Given the description of an element on the screen output the (x, y) to click on. 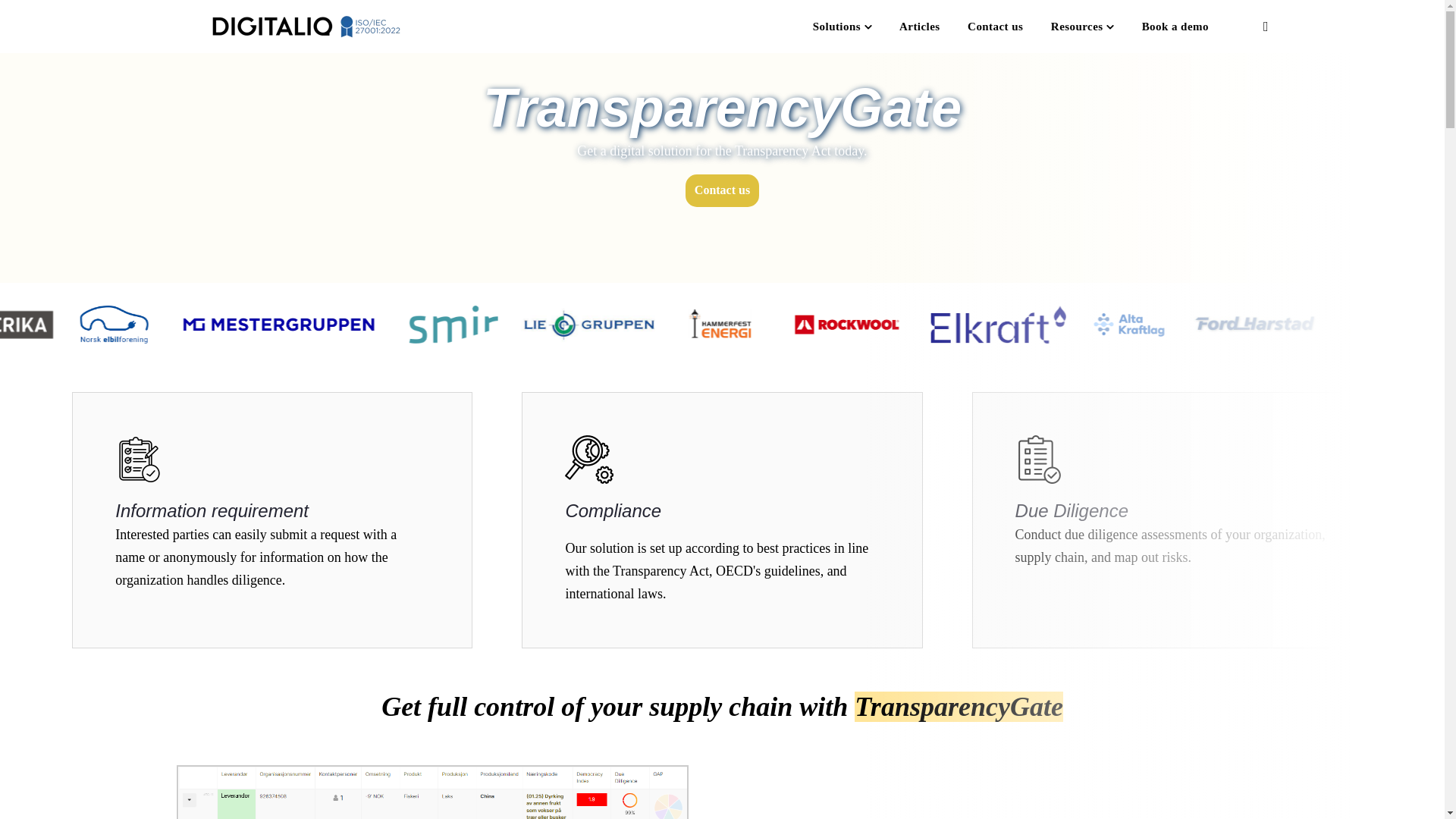
Digitaliq (305, 26)
Contact us (721, 190)
Contact us (995, 26)
Book a demo (1174, 26)
